Given the description of an element on the screen output the (x, y) to click on. 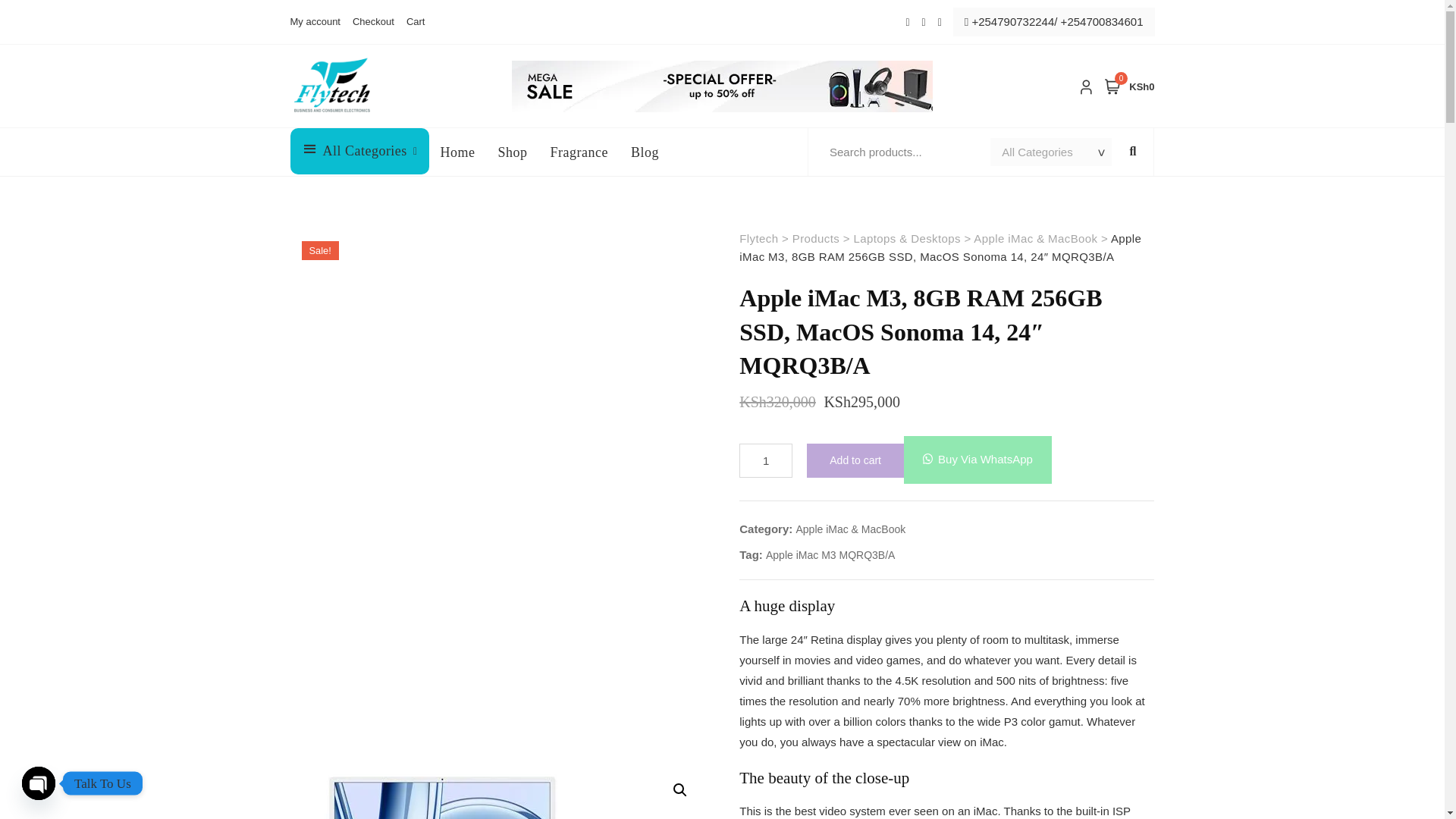
Cart (412, 22)
Go to Flytech. (758, 237)
Apple IMac MQRQ3BA (440, 791)
1 (765, 460)
All Categories (365, 150)
Checkout (1129, 85)
Go to Products. (373, 22)
My account (816, 237)
